Given the description of an element on the screen output the (x, y) to click on. 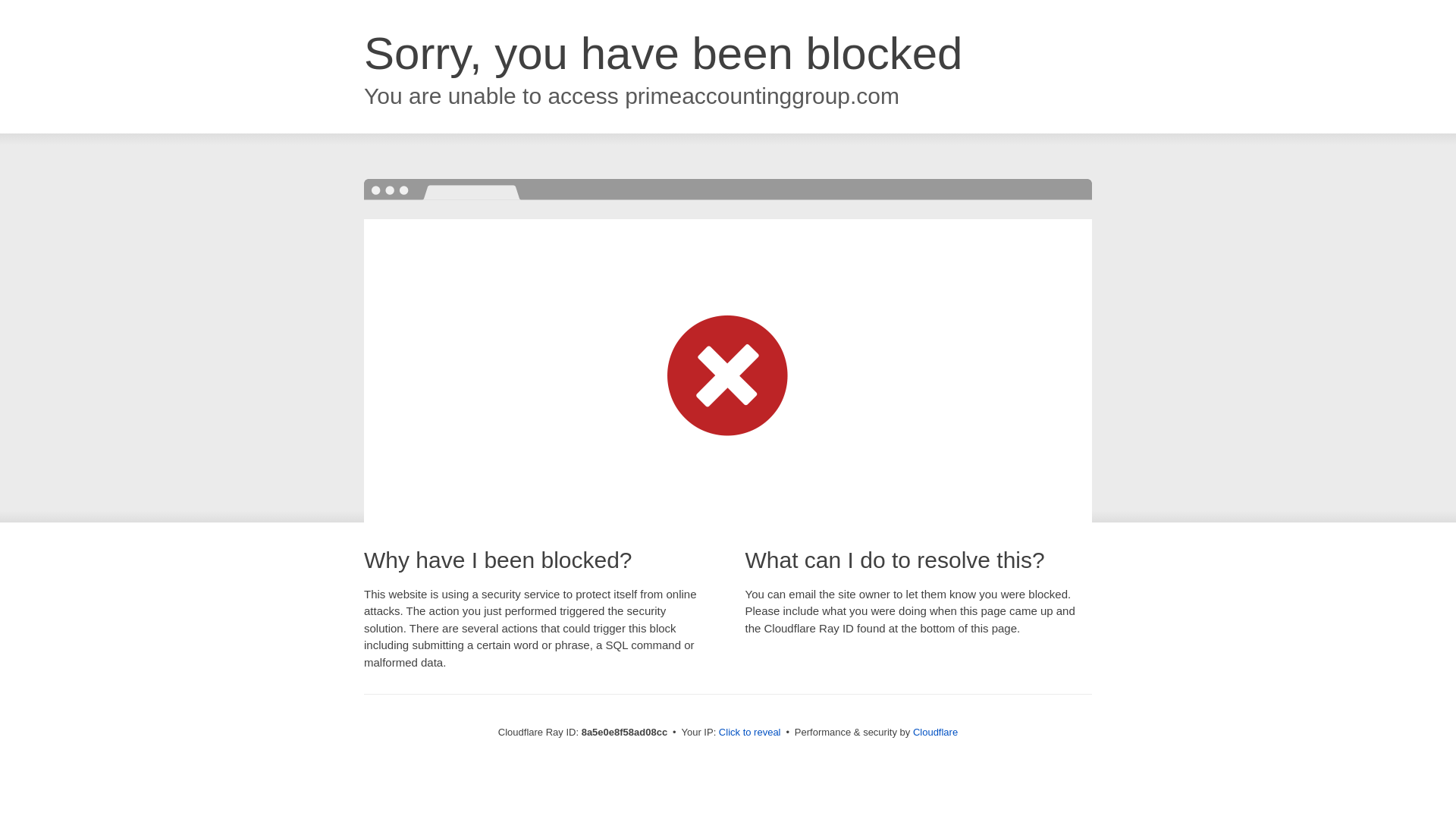
Click to reveal (749, 732)
Cloudflare (935, 731)
